Given the description of an element on the screen output the (x, y) to click on. 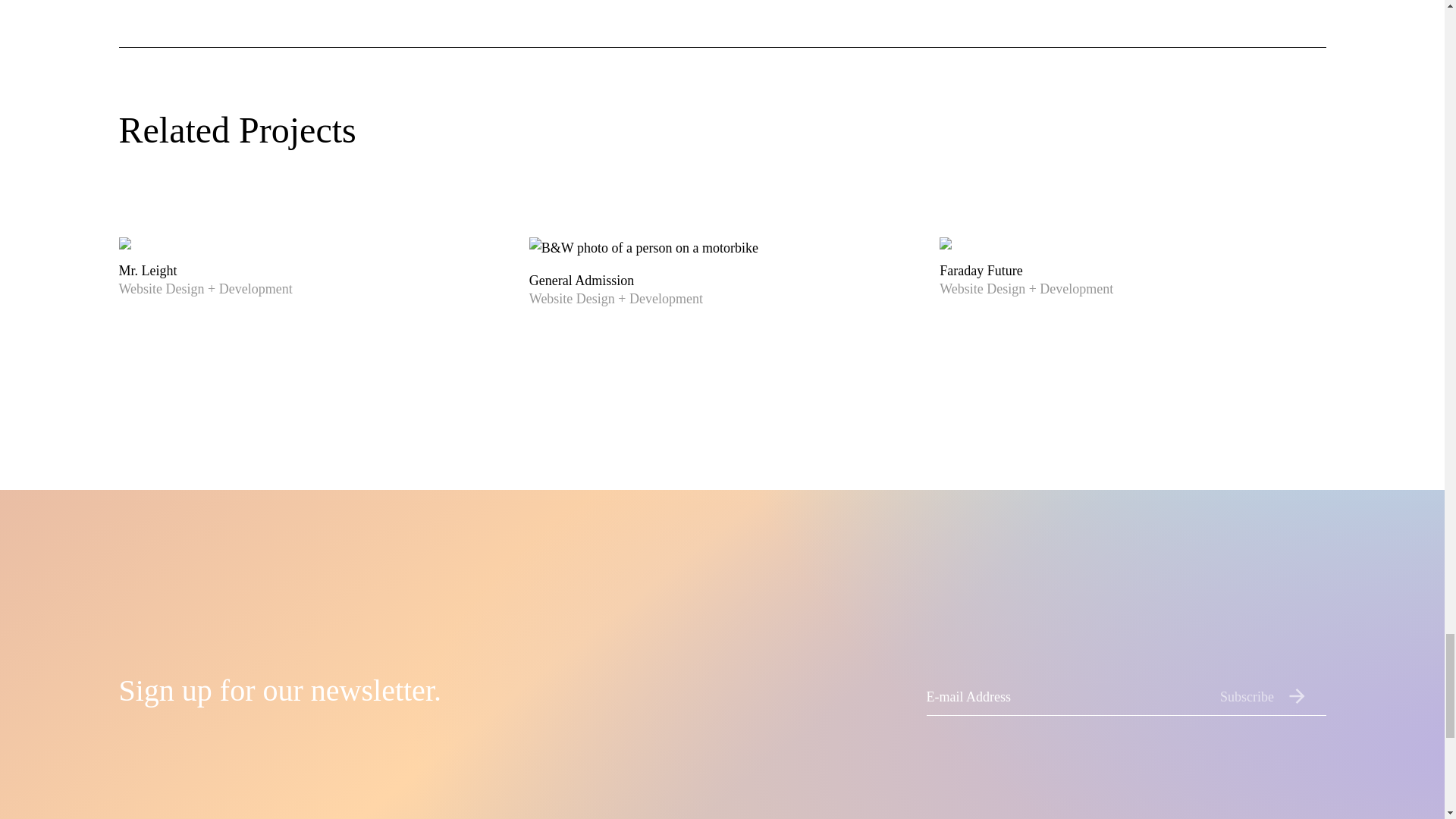
Subscribe (1272, 696)
